Given the description of an element on the screen output the (x, y) to click on. 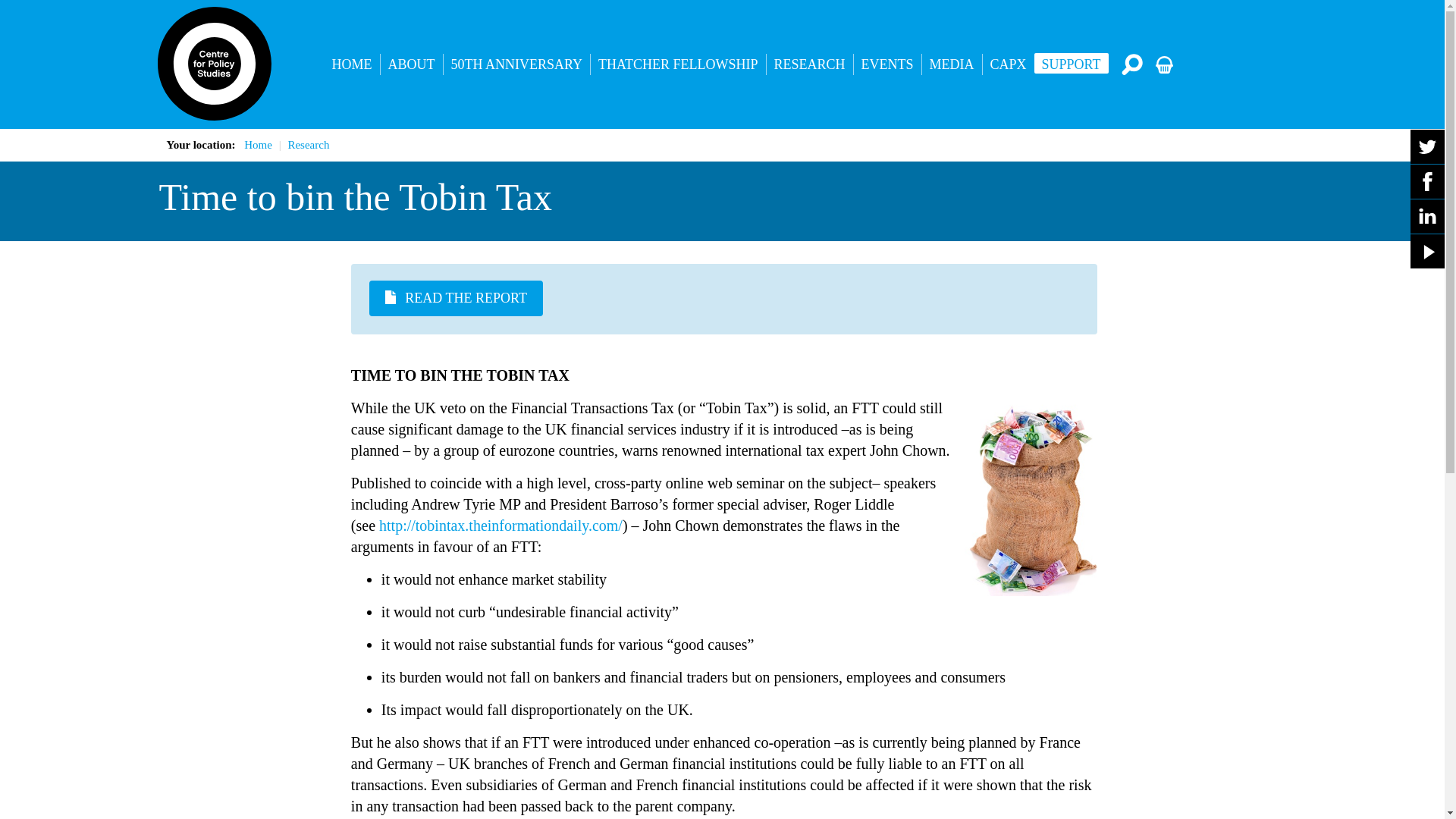
SUPPORT (1070, 63)
MEDIA (951, 64)
EVENTS (887, 64)
HOME (352, 64)
READ THE REPORT (456, 298)
THATCHER FELLOWSHIP (678, 64)
Home (258, 144)
CAPX (1007, 64)
Research (307, 144)
RESEARCH (810, 64)
50TH ANNIVERSARY (515, 64)
ABOUT (411, 64)
